Given the description of an element on the screen output the (x, y) to click on. 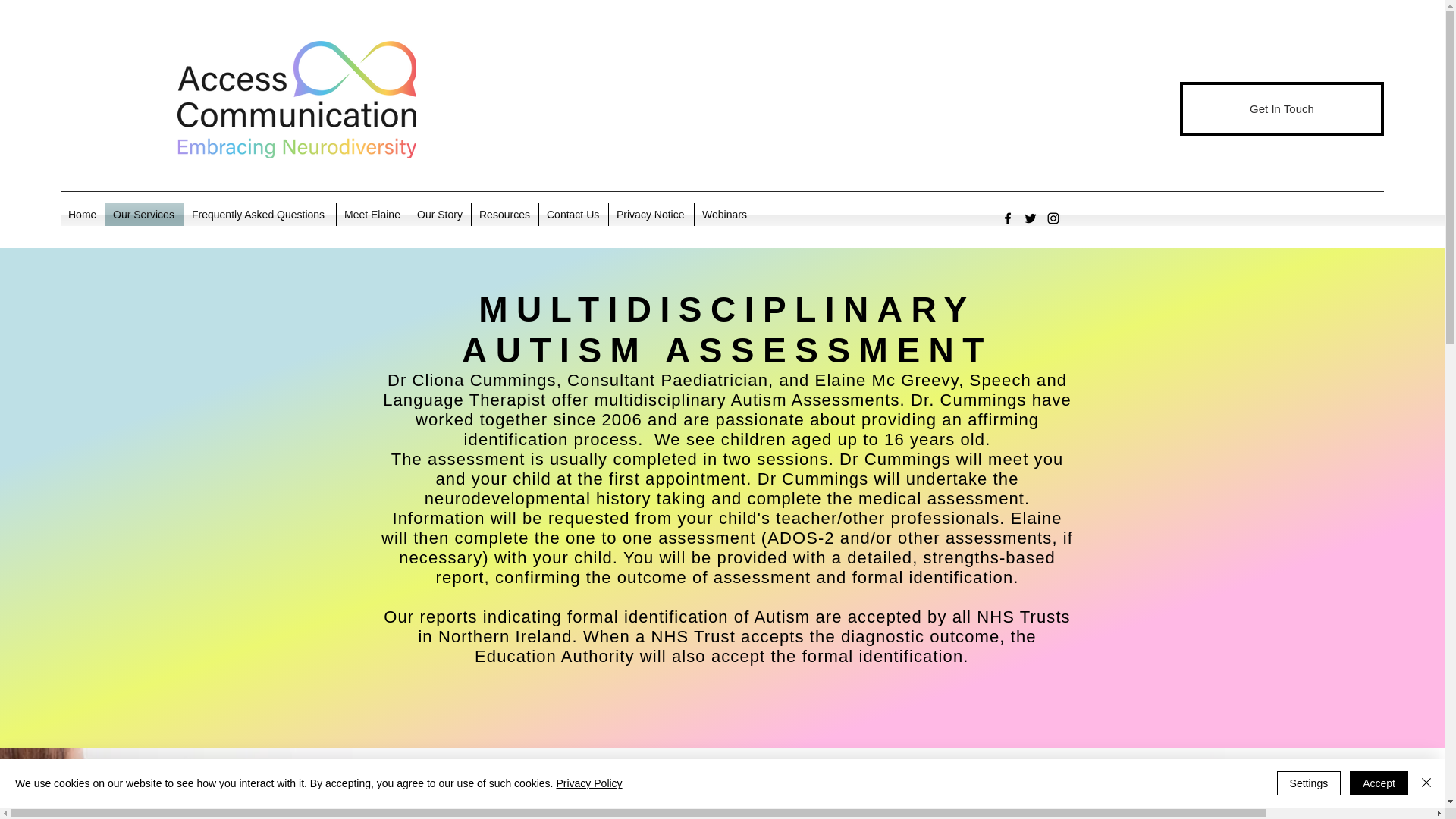
Frequently Asked Questions (260, 214)
Get In Touch (1281, 108)
Resources (504, 214)
Settings (1308, 783)
Webinars (724, 214)
Privacy Policy (588, 783)
Privacy Notice (651, 214)
Meet Elaine (372, 214)
Contact Us (573, 214)
Our Services (143, 214)
Home (82, 214)
Accept (1378, 783)
Our Story (439, 214)
